Given the description of an element on the screen output the (x, y) to click on. 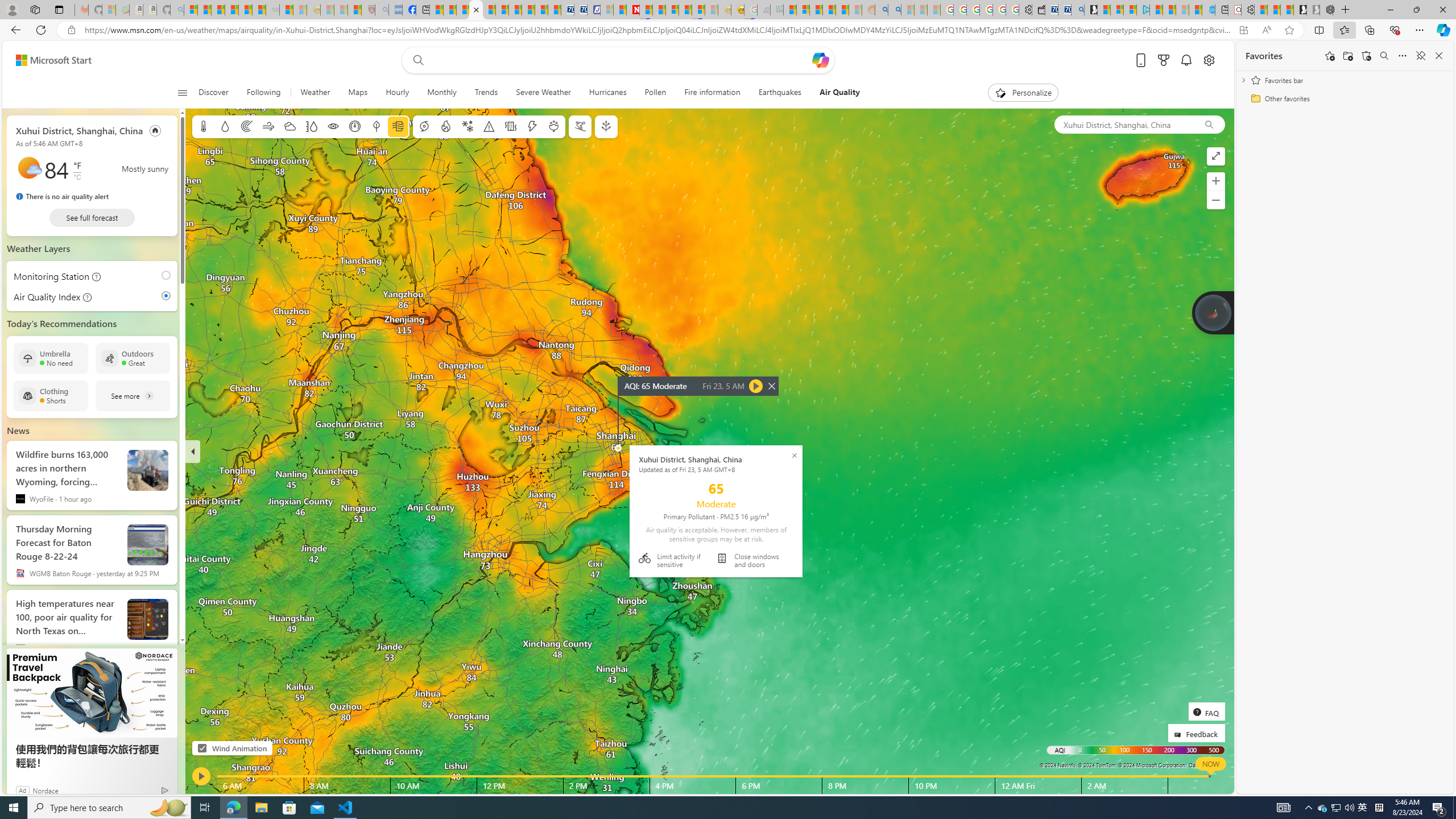
Maps (357, 92)
Hourly (397, 92)
WyoFile (20, 498)
Xuhui District, Shanghai, China (79, 130)
Wind Animation (202, 747)
Following (263, 92)
Class: feedback_link_icon-DS-EntryPoint1-1 (1179, 734)
14 Common Myths Debunked By Scientific Facts (659, 9)
Fire information (712, 92)
Microsoft Start Gaming (1090, 9)
The Weather Channel - MSN (218, 9)
